Given the description of an element on the screen output the (x, y) to click on. 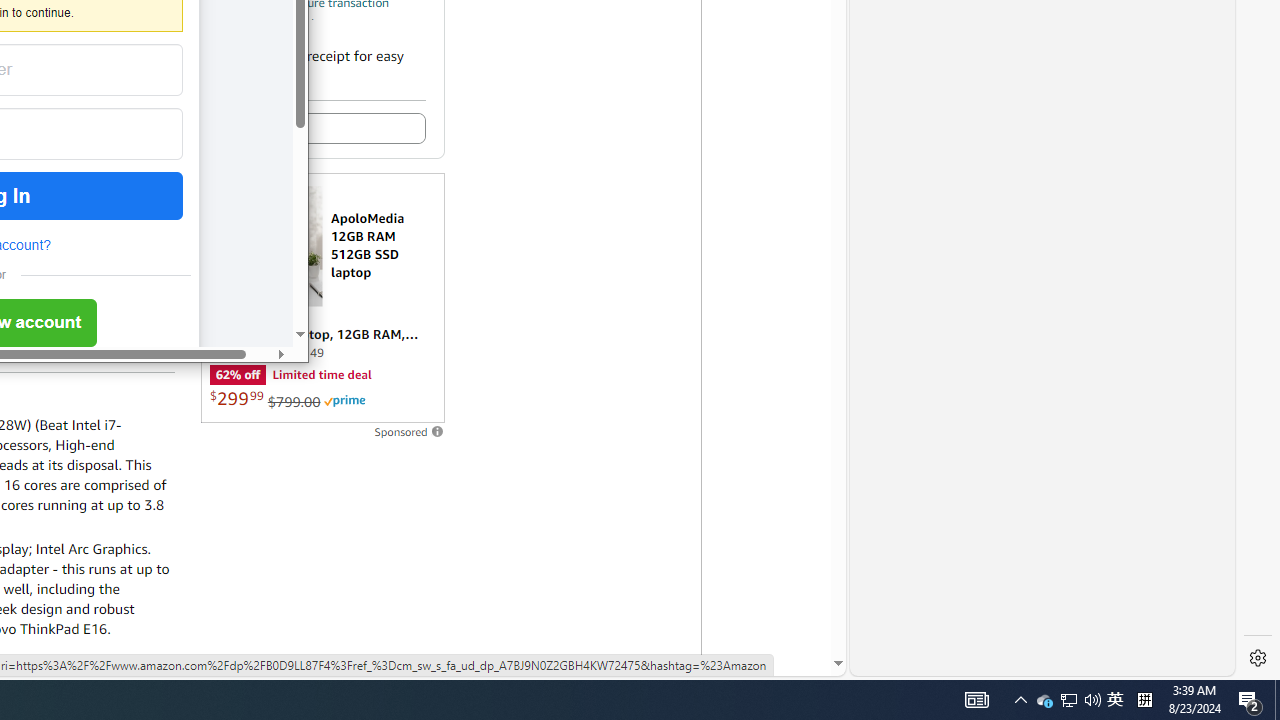
Notification Chevron (1020, 699)
Q2790: 100% (1092, 699)
Prime (344, 400)
Show desktop (1277, 699)
User Promoted Notification Area (1044, 699)
AutomationID: 4105 (1068, 699)
Action Center, 2 new notifications (976, 699)
Tray Input Indicator - Chinese (Simplified, China) (1250, 699)
